Given the description of an element on the screen output the (x, y) to click on. 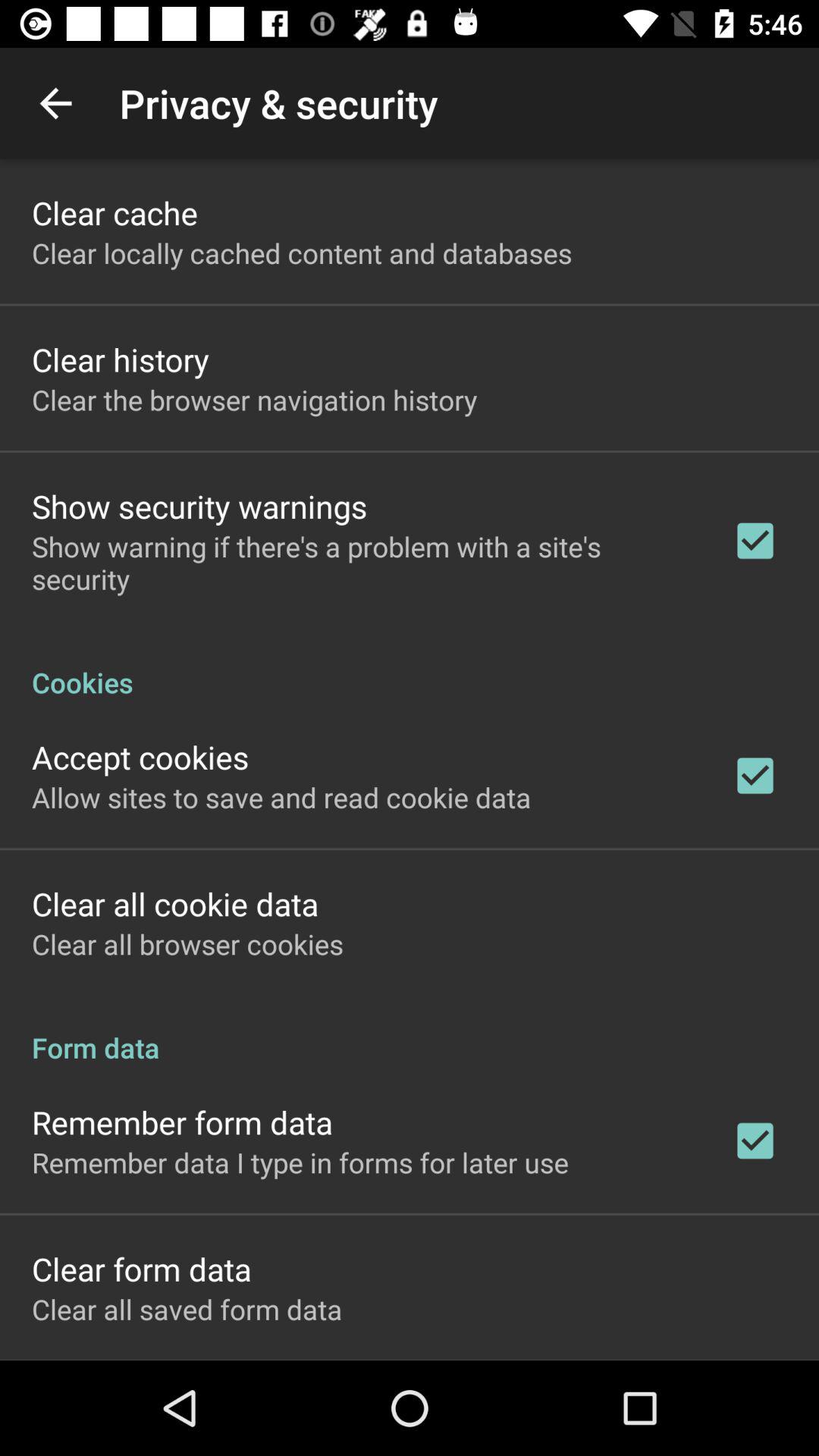
choose clear locally cached icon (301, 252)
